Given the description of an element on the screen output the (x, y) to click on. 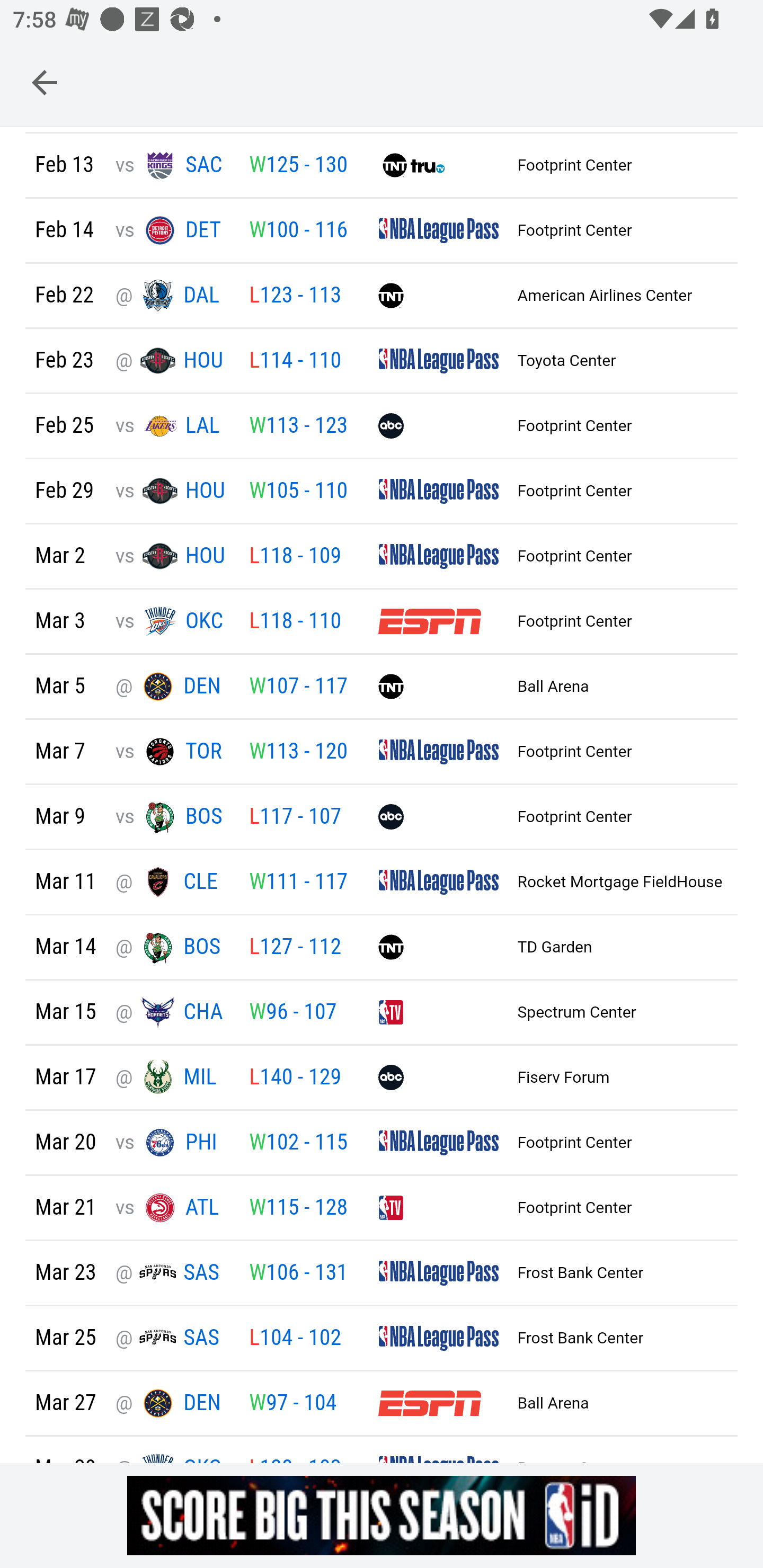
Navigate up (44, 82)
vs SAC Logo SAC vs SAC Logo SAC (172, 165)
W125 - 130 W 125 - 130 (297, 166)
vs DET Logo DET vs DET Logo DET (172, 230)
W100 - 116 W 100 - 116 (297, 230)
@ DAL Logo DAL @ DAL Logo DAL (172, 295)
L123 - 113 L 123 - 113 (294, 296)
@ HOU Logo HOU @ HOU Logo HOU (172, 361)
L114 - 110 L 114 - 110 (294, 361)
vs LAL Logo LAL vs LAL Logo LAL (172, 426)
W113 - 123 W 113 - 123 (297, 426)
vs HOU Logo HOU vs HOU Logo HOU (172, 491)
W105 - 110 W 105 - 110 (297, 491)
vs HOU Logo HOU vs HOU Logo HOU (172, 557)
L118 - 109 L 118 - 109 (294, 557)
vs OKC Logo OKC vs OKC Logo OKC (172, 621)
L118 - 110 L 118 - 110 (294, 621)
@ DEN Logo DEN @ DEN Logo DEN (172, 687)
W107 - 117 W 107 - 117 (297, 687)
vs TOR Logo TOR vs TOR Logo TOR (172, 752)
W113 - 120 W 113 - 120 (297, 752)
vs BOS Logo BOS vs BOS Logo BOS (172, 817)
L117 - 107 L 117 - 107 (294, 817)
@ CLE Logo CLE @ CLE Logo CLE (172, 882)
W111 - 117 W 111 - 117 (297, 882)
@ BOS Logo BOS @ BOS Logo BOS (172, 947)
L127 - 112 L 127 - 112 (294, 947)
@ CHA Logo CHA @ CHA Logo CHA (172, 1012)
W96 - 107 W 96 - 107 (292, 1013)
@ MIL Logo MIL @ MIL Logo MIL (172, 1077)
L140 - 129 L 140 - 129 (294, 1077)
vs PHI Logo PHI vs PHI Logo PHI (172, 1143)
W102 - 115 W 102 - 115 (297, 1143)
vs ATL Logo ATL vs ATL Logo ATL (172, 1207)
W115 - 128 W 115 - 128 (297, 1207)
@ SAS Logo SAS @ SAS Logo SAS (172, 1273)
W106 - 131 W 106 - 131 (297, 1273)
@ SAS Logo SAS @ SAS Logo SAS (172, 1338)
L104 - 102 L 104 - 102 (294, 1337)
@ DEN Logo DEN @ DEN Logo DEN (172, 1403)
W97 - 104 W 97 - 104 (292, 1403)
g5nqqygr7owph (381, 1515)
